Given the description of an element on the screen output the (x, y) to click on. 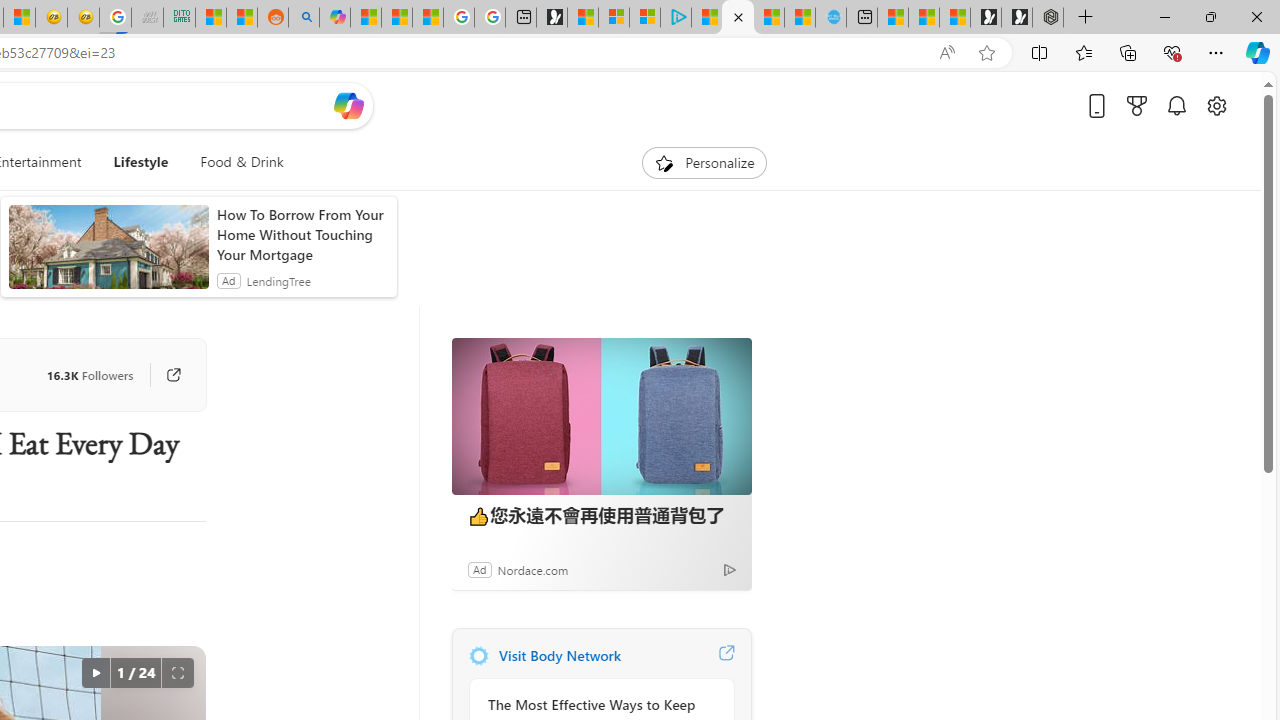
Visit Body Network website (726, 655)
Nordace.com (532, 569)
Go to publisher's site (173, 374)
